Given the description of an element on the screen output the (x, y) to click on. 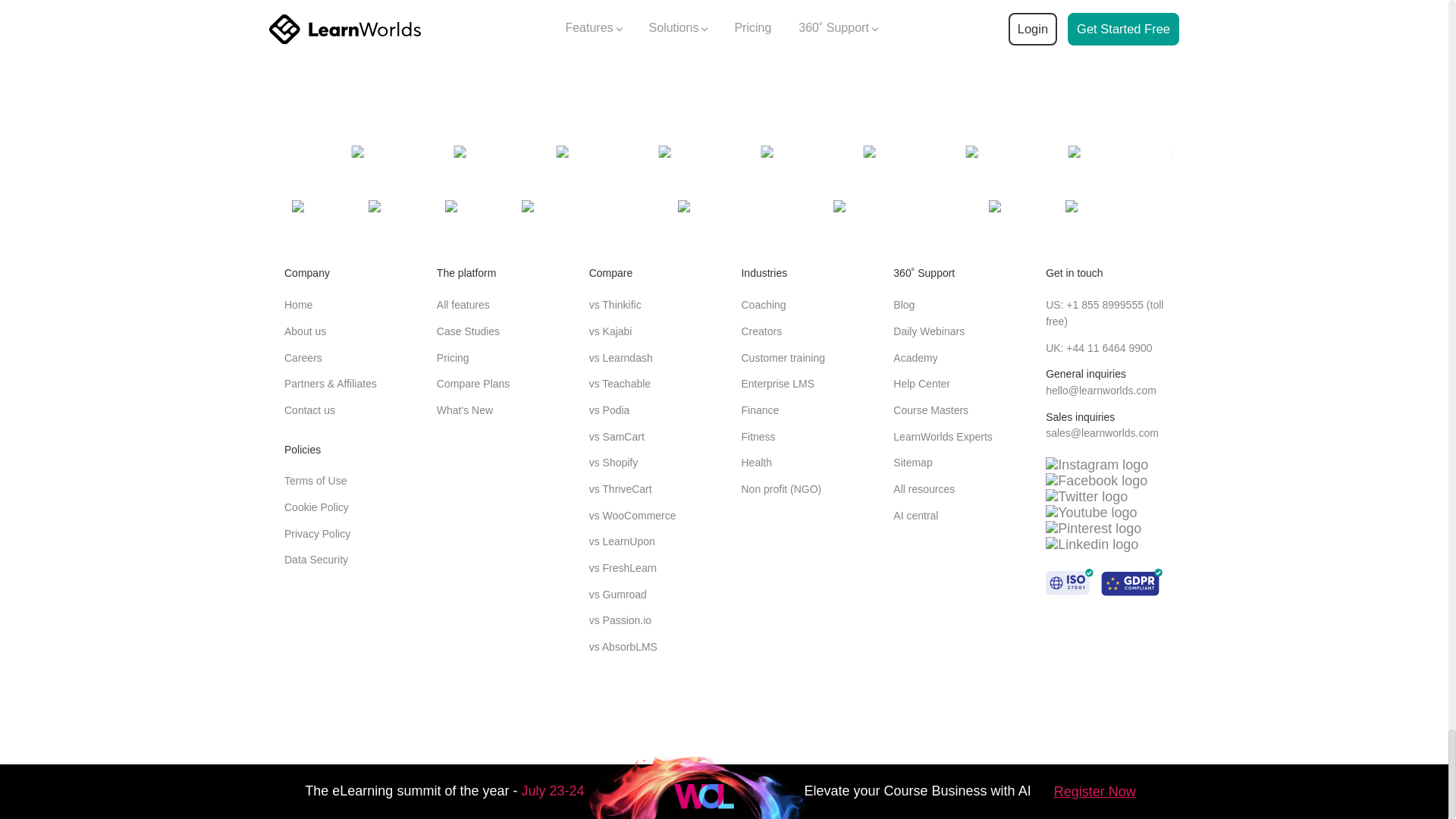
send email to LearnWorlds (1101, 432)
send email to LearnWorlds (1100, 390)
